Given the description of an element on the screen output the (x, y) to click on. 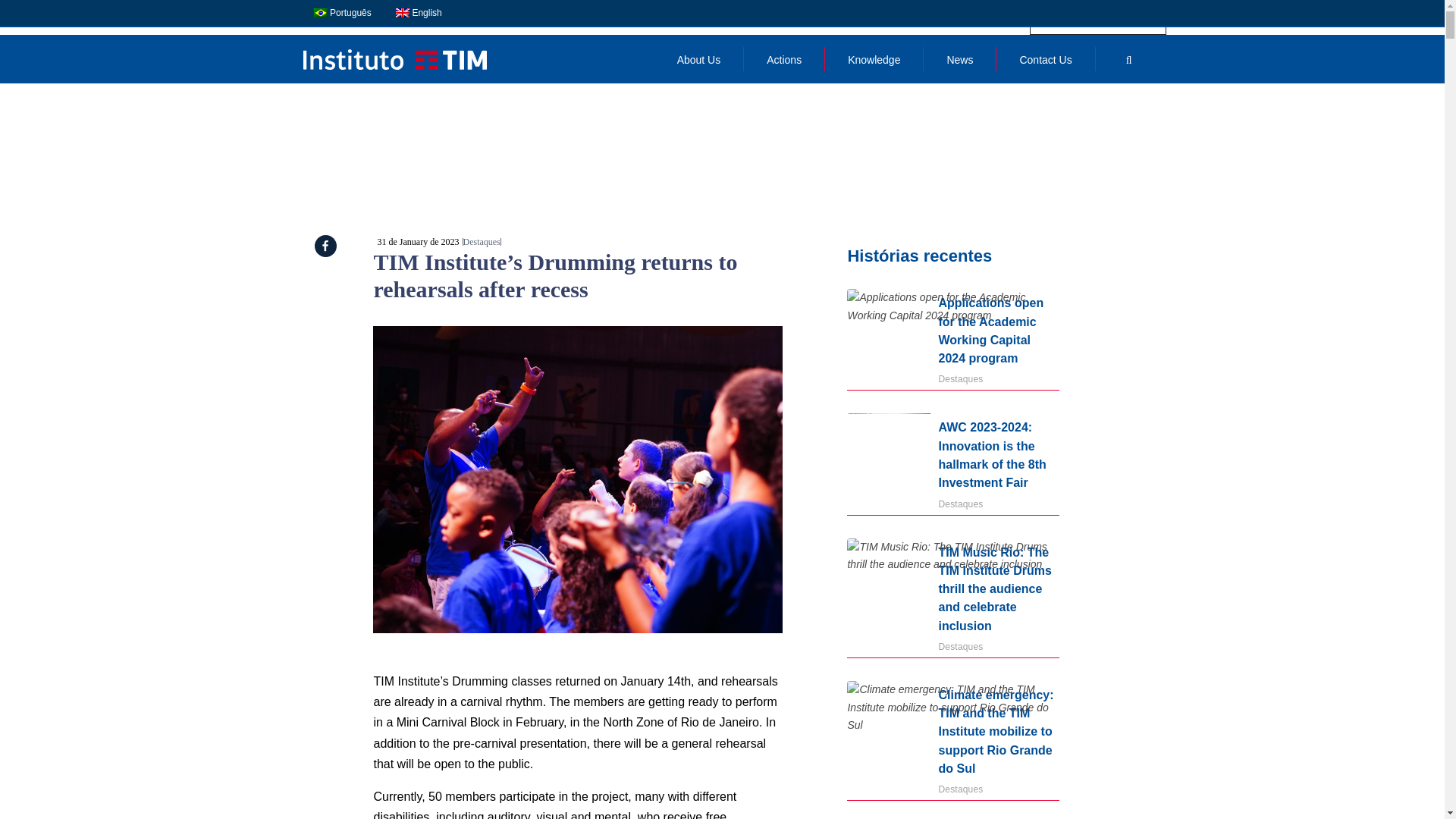
LIBRAS (1119, 15)
Contact Us (1045, 59)
English (419, 12)
News (959, 59)
